Given the description of an element on the screen output the (x, y) to click on. 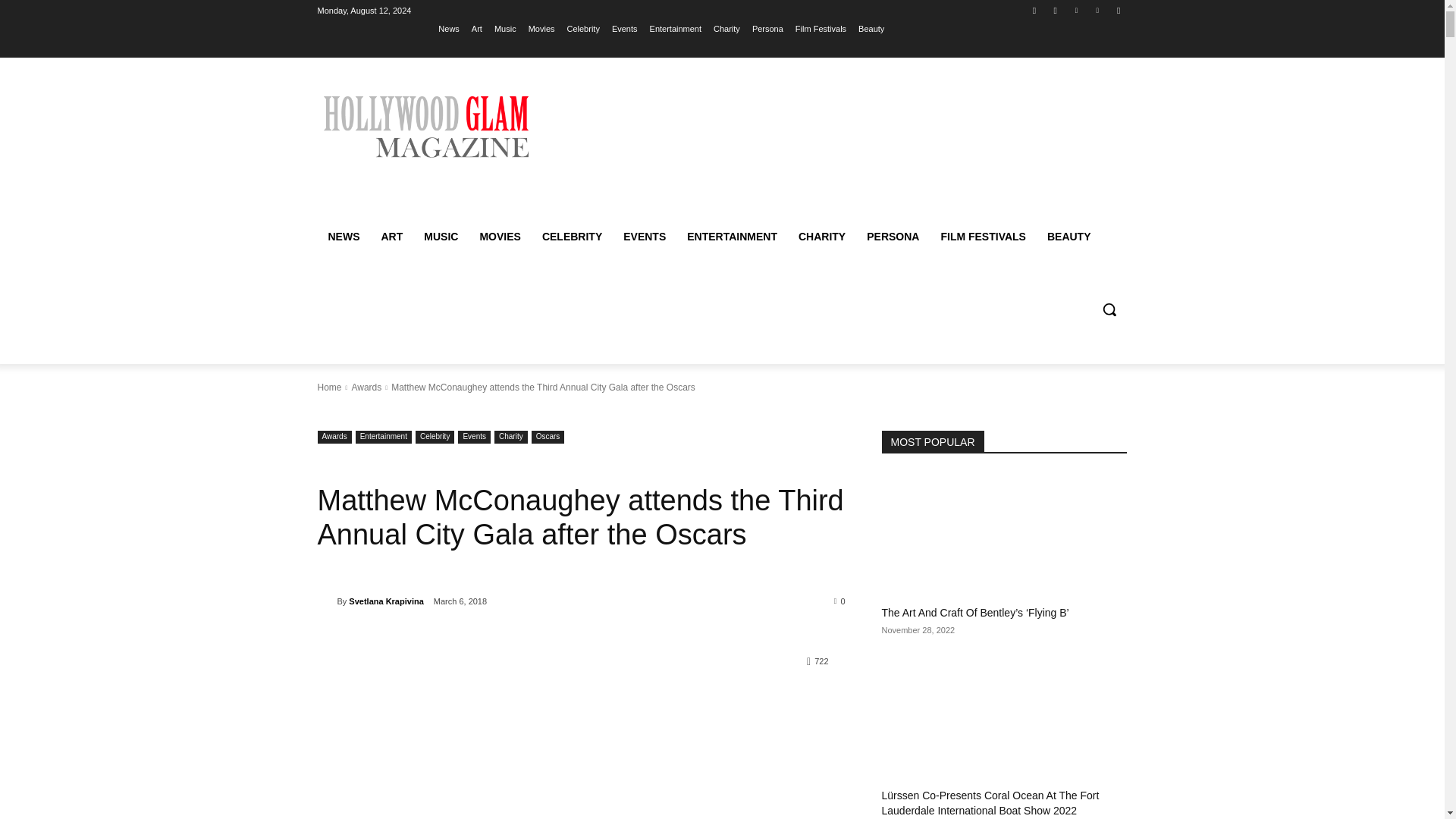
Persona (767, 28)
Movies (541, 28)
Events (624, 28)
Music (505, 28)
View all posts in Awards (365, 387)
Celebrity (583, 28)
News (449, 28)
Charity (726, 28)
Entertainment (675, 28)
Svetlana Krapivina (326, 601)
